Given the description of an element on the screen output the (x, y) to click on. 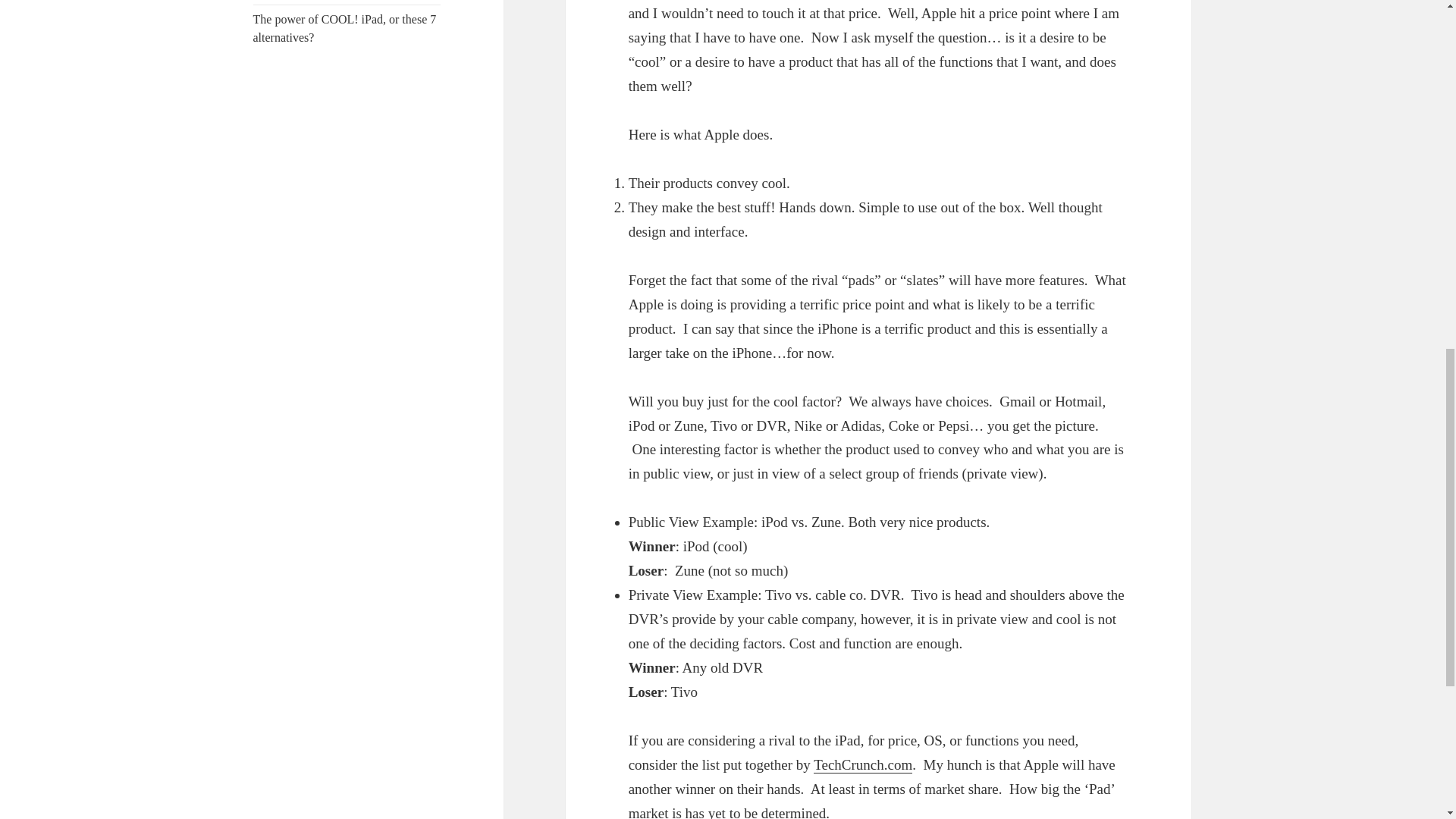
The power of COOL! iPad, or these 7 alternatives? (344, 28)
Seven alternatives to the iPad (862, 764)
TechCrunch.com (862, 764)
